Given the description of an element on the screen output the (x, y) to click on. 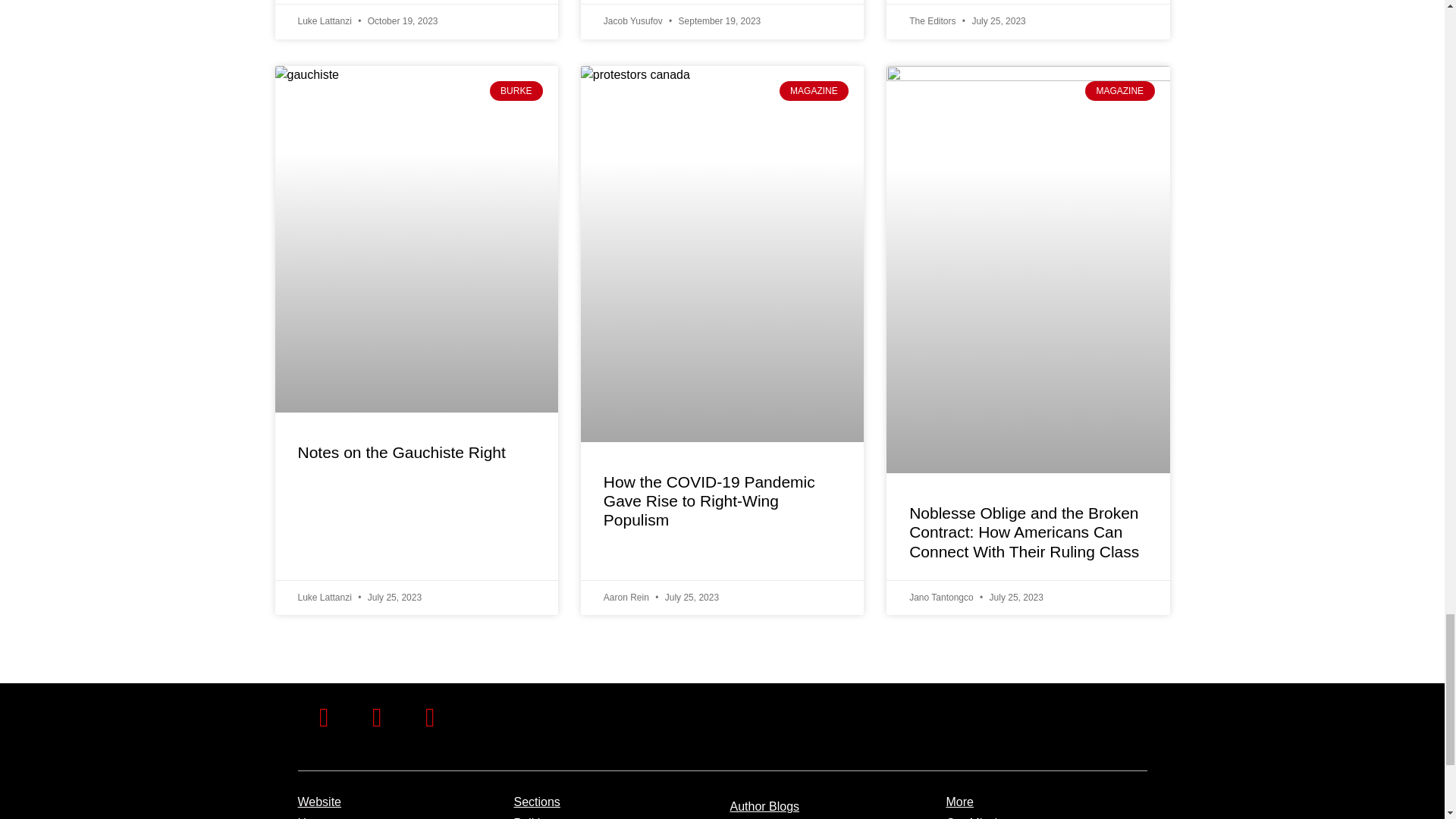
How the COVID-19 Pandemic Gave Rise to Right-Wing Populism (709, 500)
Notes on the Gauchiste Right (401, 452)
Home (313, 817)
